Given the description of an element on the screen output the (x, y) to click on. 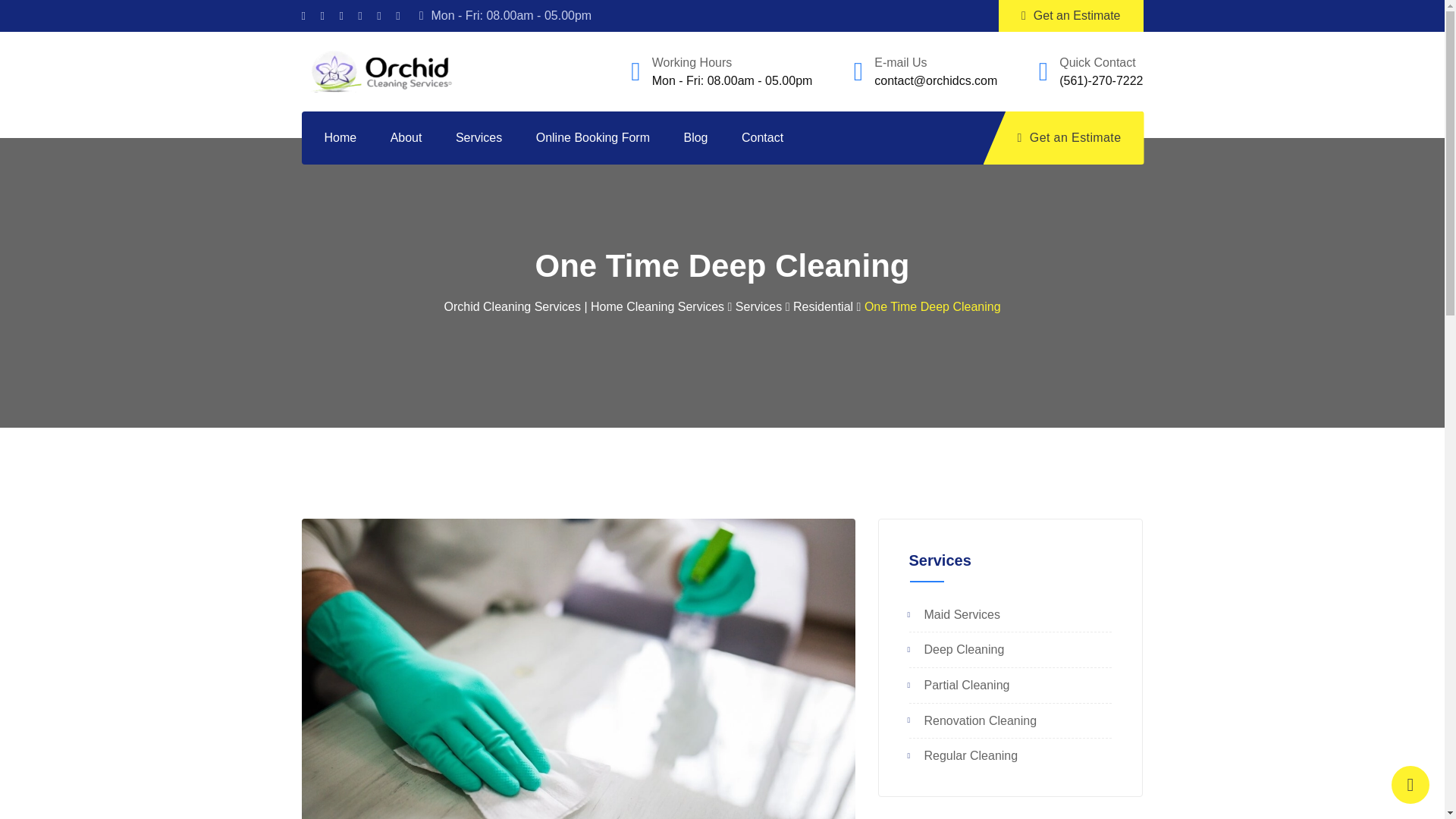
Get an Estimate (1070, 15)
About (406, 137)
Home (348, 137)
Services (478, 137)
Online Booking Form (593, 137)
Get an Estimate (1064, 137)
Blog (695, 137)
Contact (761, 137)
Go to Services. (758, 306)
Go to the Residential Service Category archives. (823, 306)
